Given the description of an element on the screen output the (x, y) to click on. 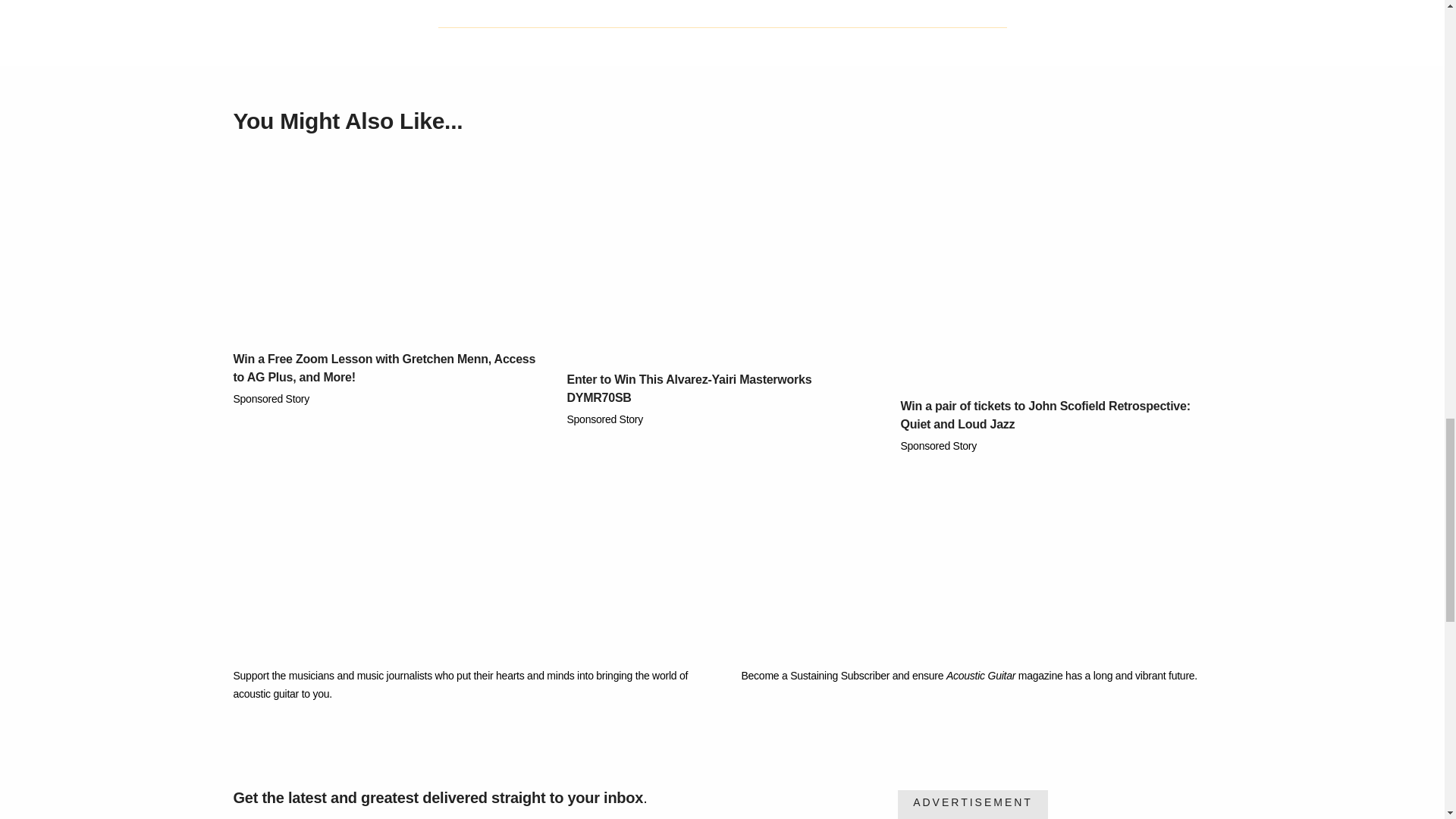
Posts by Sponsored Story (938, 445)
Posts by Sponsored Story (271, 398)
Posts by Sponsored Story (605, 419)
